Given the description of an element on the screen output the (x, y) to click on. 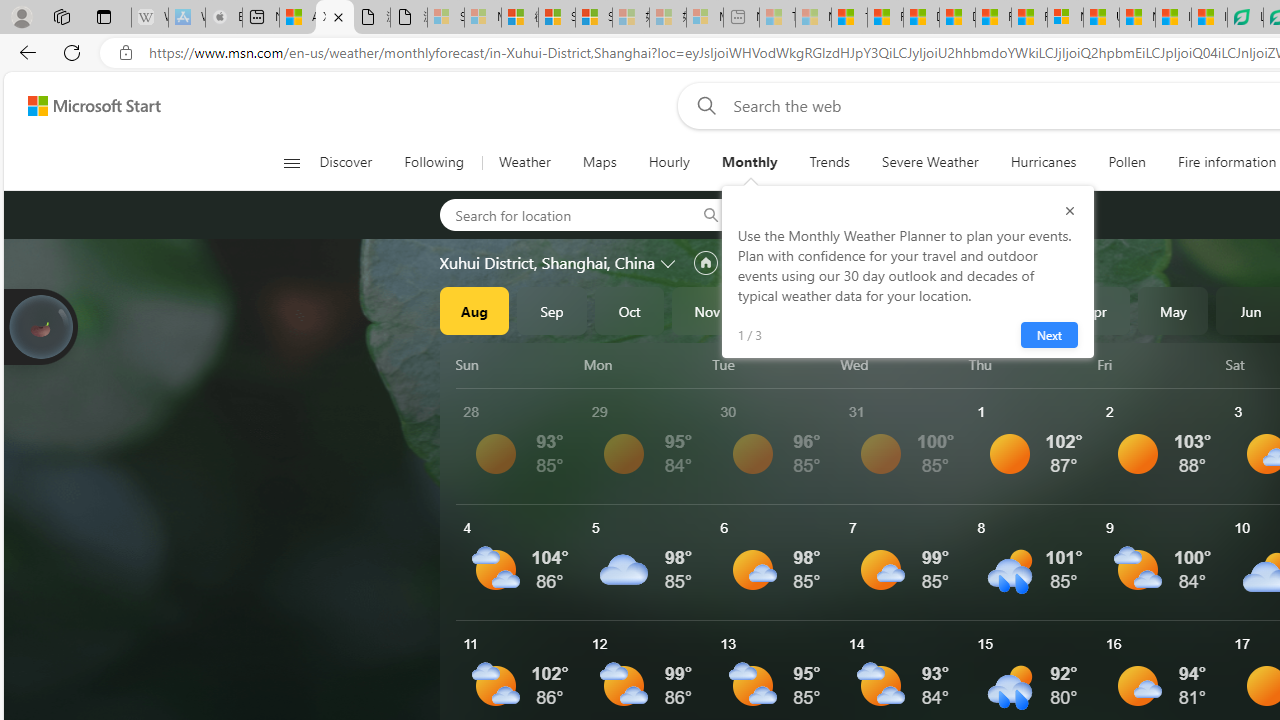
Wed (900, 363)
Set as primary location (705, 263)
Remove location (934, 214)
Sun (516, 363)
Aug (474, 310)
Aug (474, 310)
Search for location (561, 214)
Next (1048, 334)
